Given the description of an element on the screen output the (x, y) to click on. 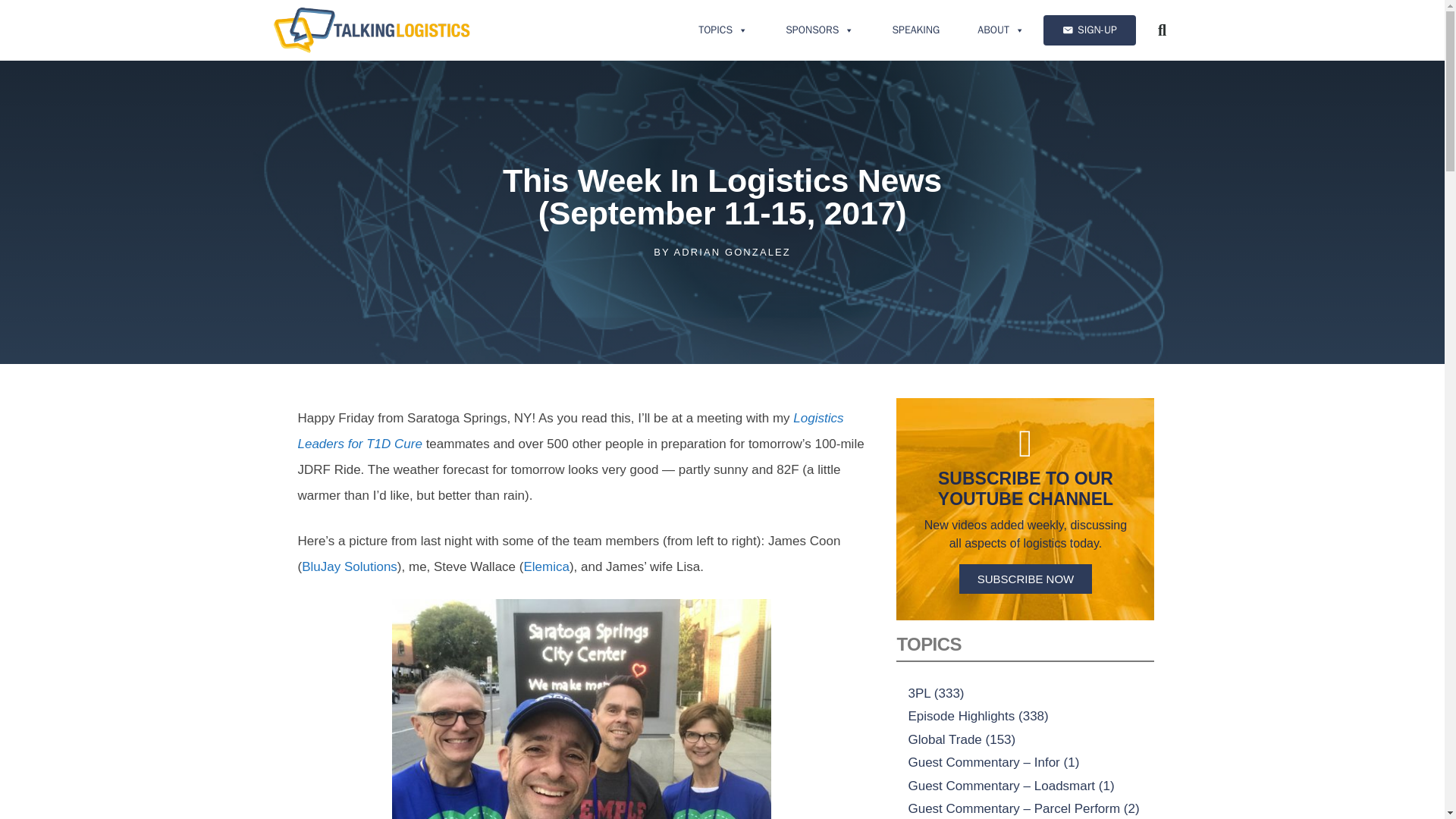
SPEAKING (915, 30)
SIGN-UP (1089, 30)
SPONSORS (819, 30)
TOPICS (723, 30)
ABOUT (1000, 30)
